Given the description of an element on the screen output the (x, y) to click on. 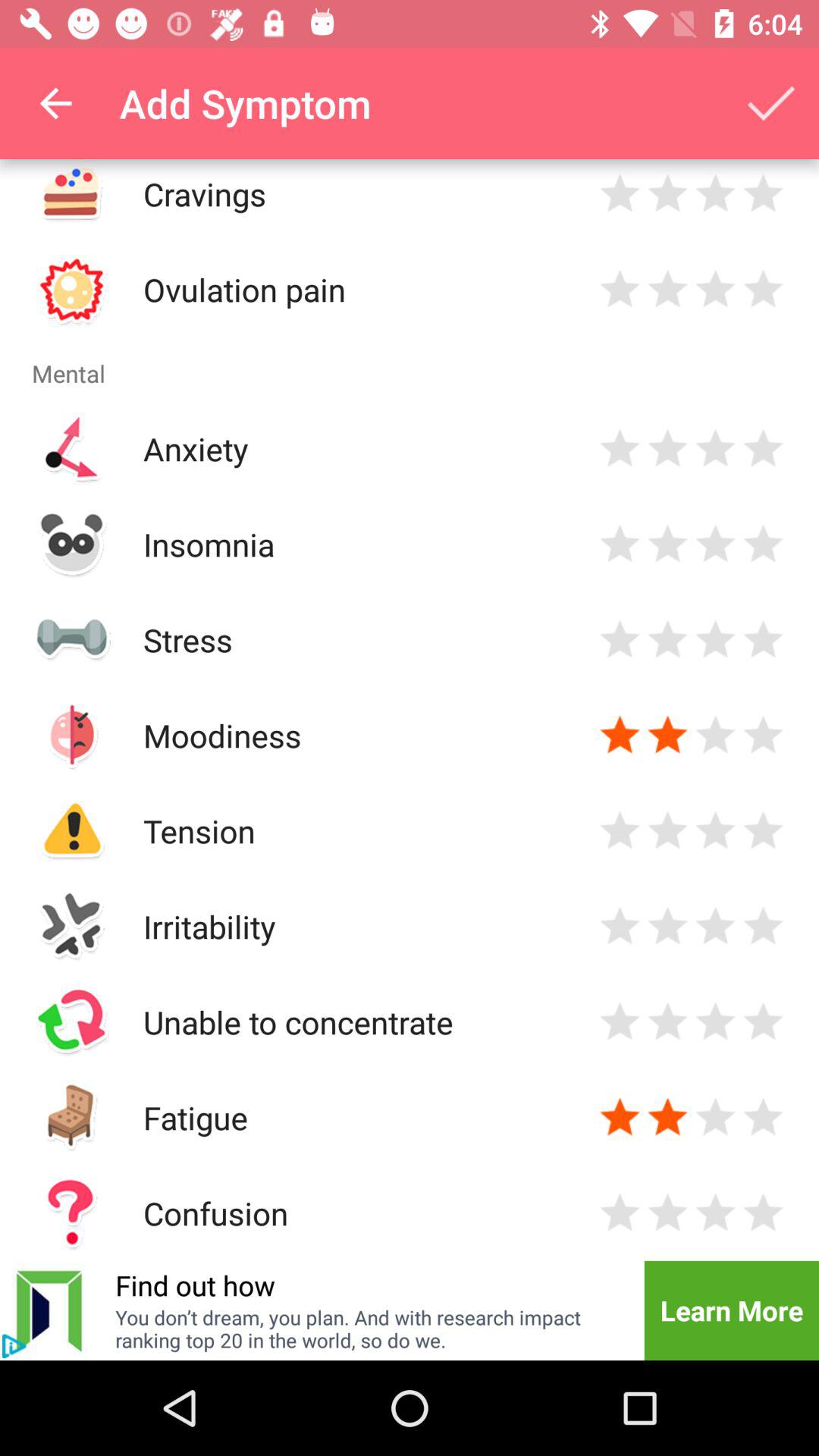
rate 2 stars (667, 1117)
